Given the description of an element on the screen output the (x, y) to click on. 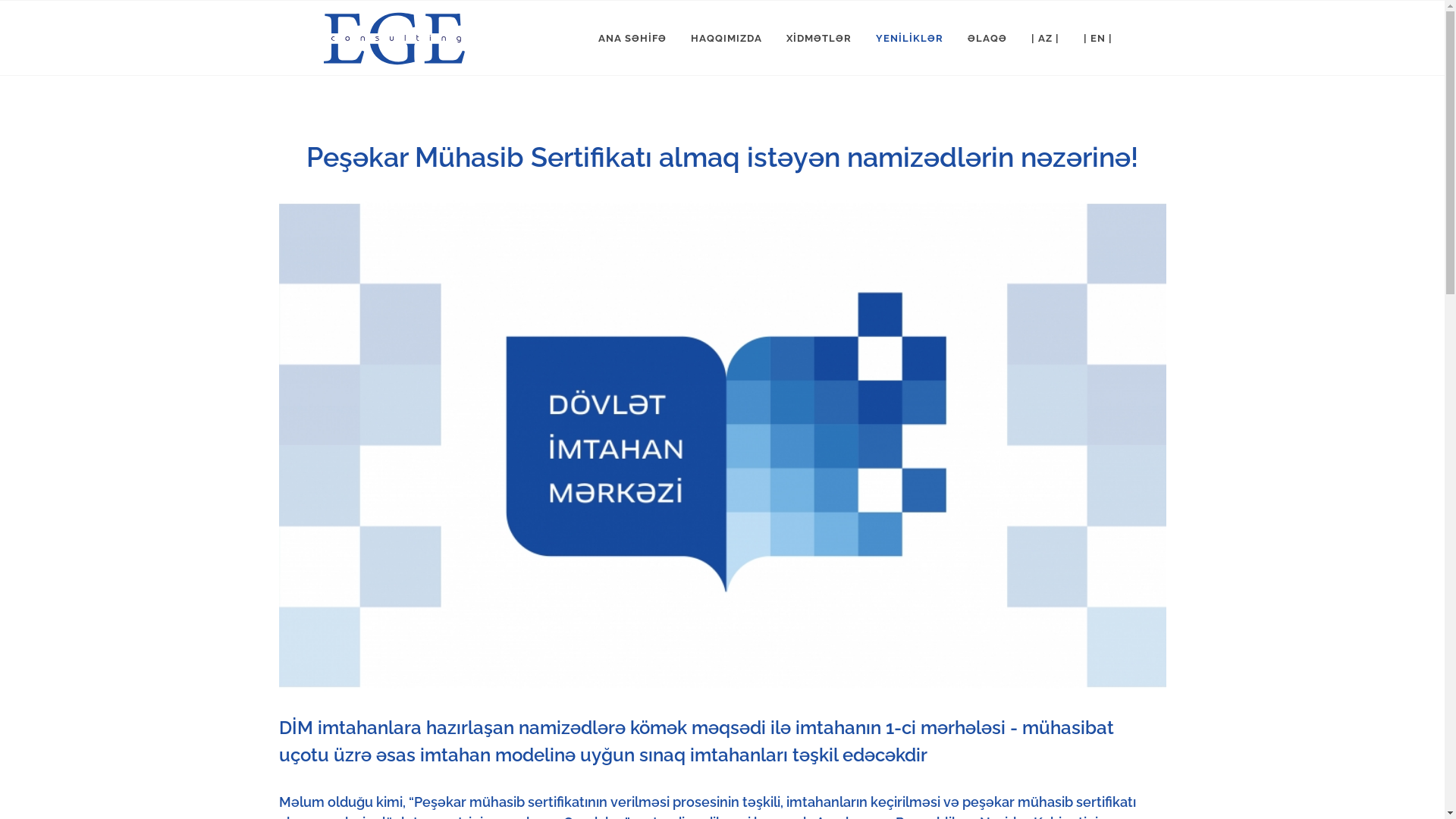
| EN | Element type: text (1097, 38)
HAQQIMIZDA Element type: text (726, 38)
| AZ | Element type: text (1044, 38)
